Given the description of an element on the screen output the (x, y) to click on. 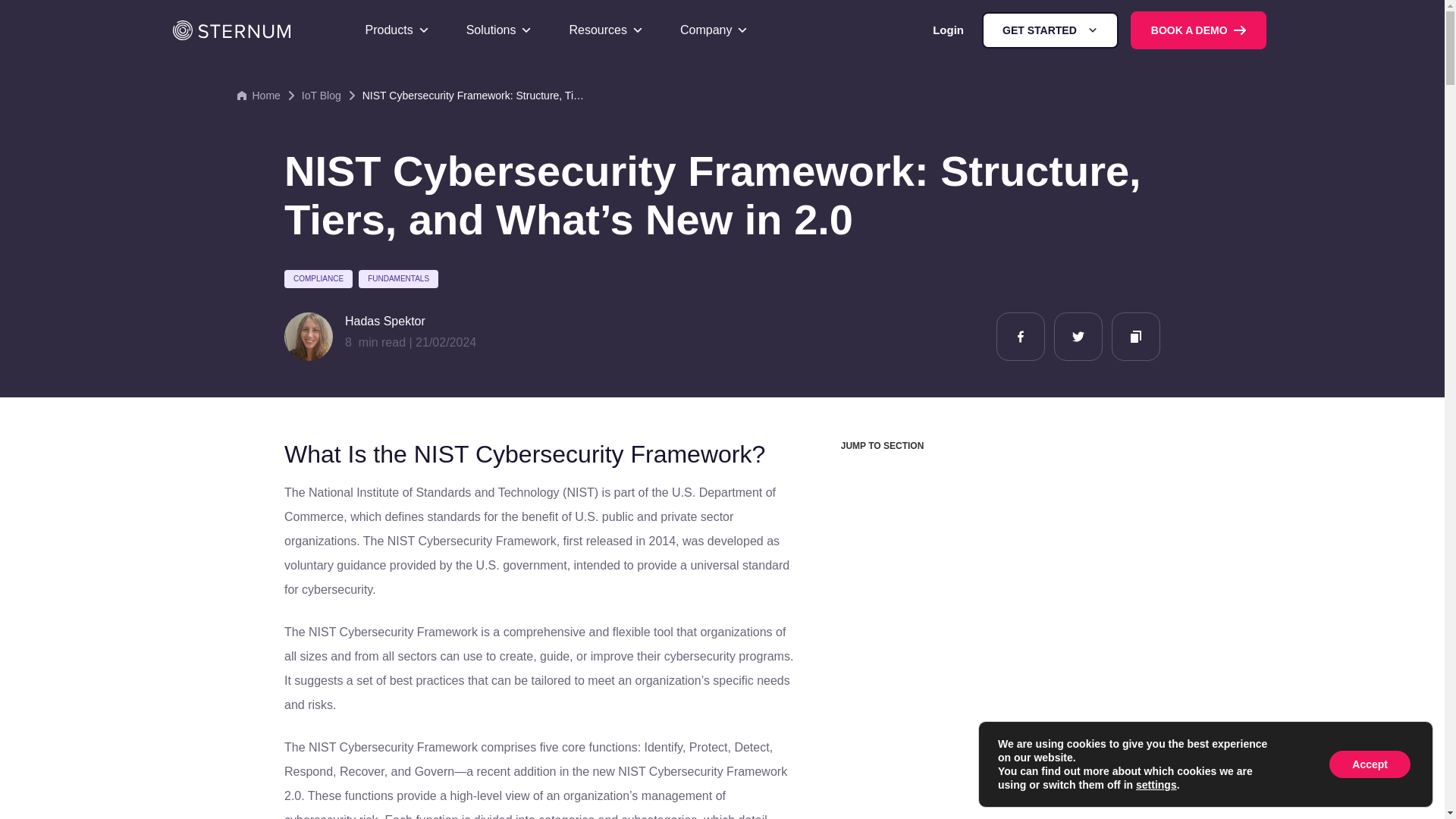
Resources (606, 30)
Products (397, 30)
Solutions (498, 30)
Company (713, 30)
